Given the description of an element on the screen output the (x, y) to click on. 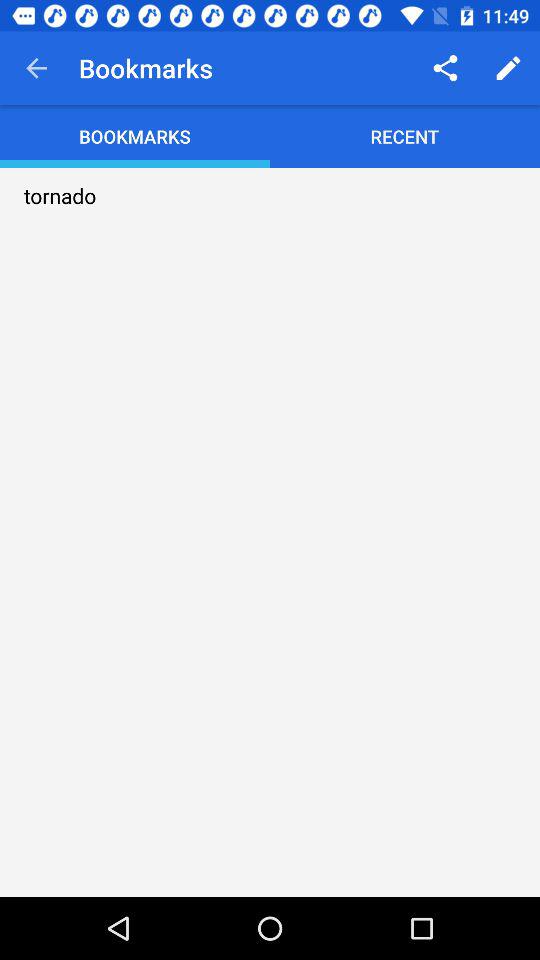
launch item below bookmarks (59, 195)
